Given the description of an element on the screen output the (x, y) to click on. 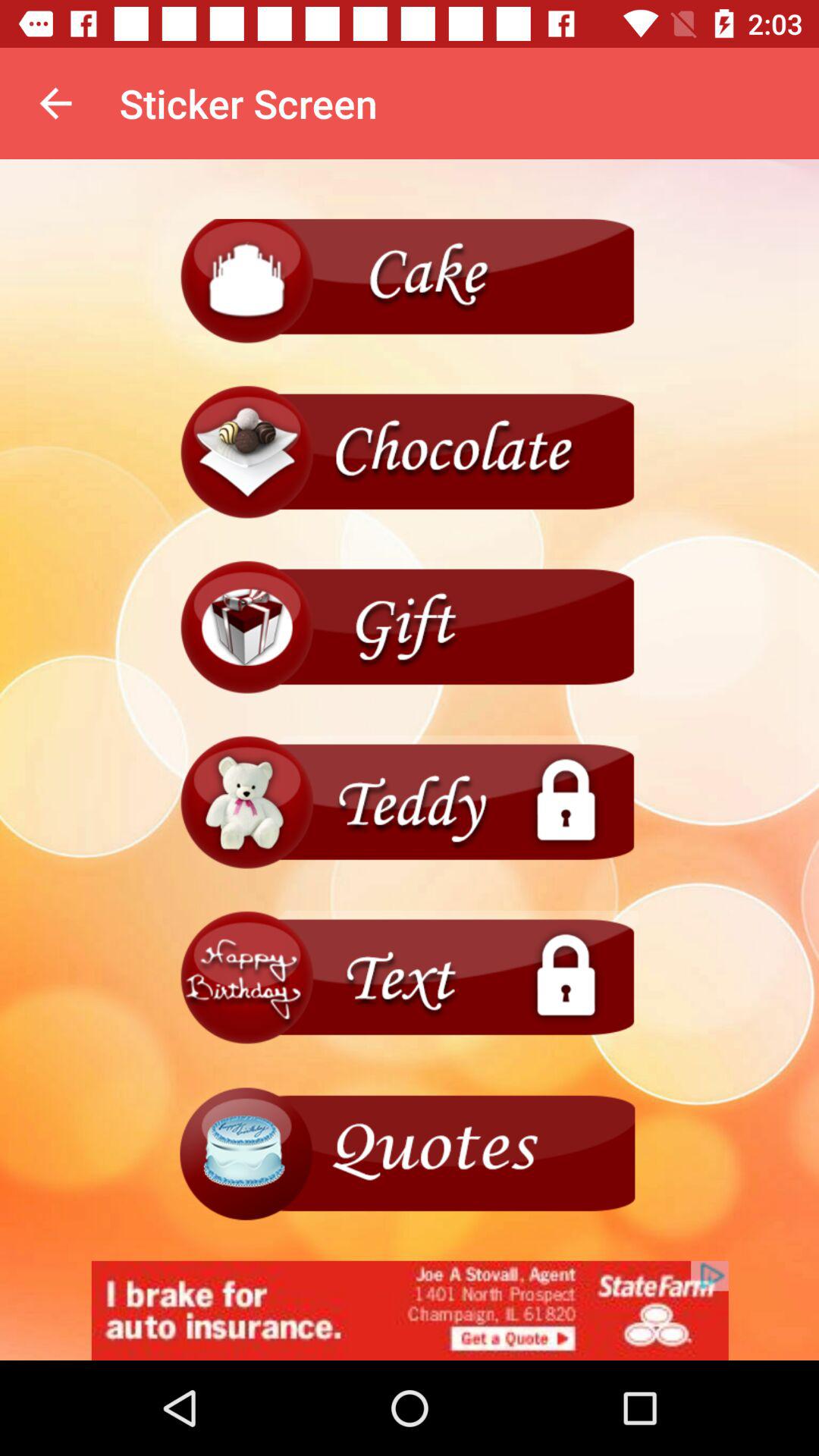
go back (409, 802)
